Given the description of an element on the screen output the (x, y) to click on. 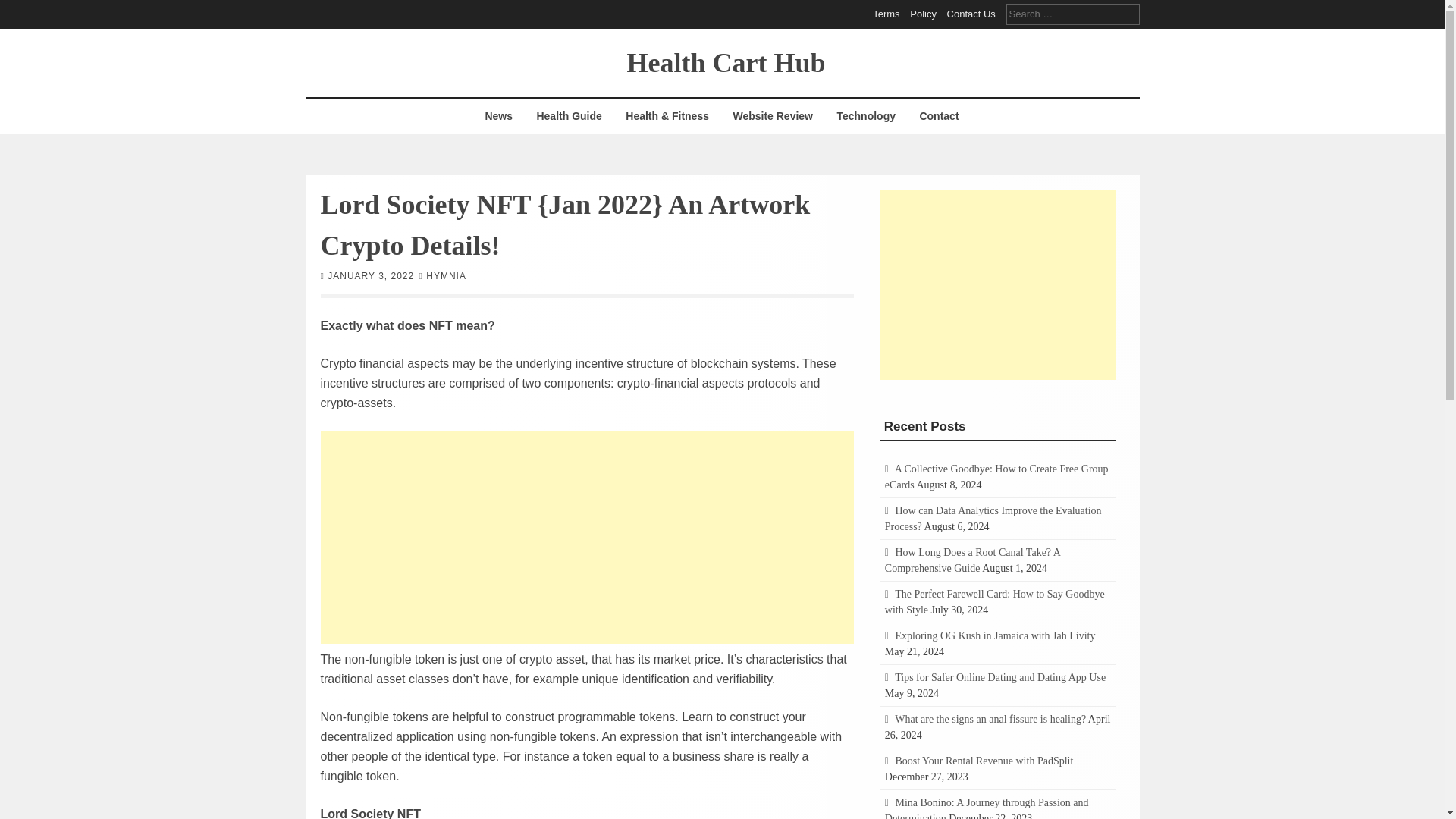
Website Review (772, 116)
Tips for Safer Online Dating and Dating App Use (1000, 677)
Mina Bonino: A Journey through Passion and Determination (987, 807)
JANUARY 3, 2022 (370, 275)
Contact Us (971, 13)
Search (23, 9)
A Collective Goodbye: How to Create Free Group eCards (996, 476)
What are the signs an anal fissure is healing? (990, 718)
How Long Does a Root Canal Take? A Comprehensive Guide (972, 560)
Advertisement (998, 284)
